Given the description of an element on the screen output the (x, y) to click on. 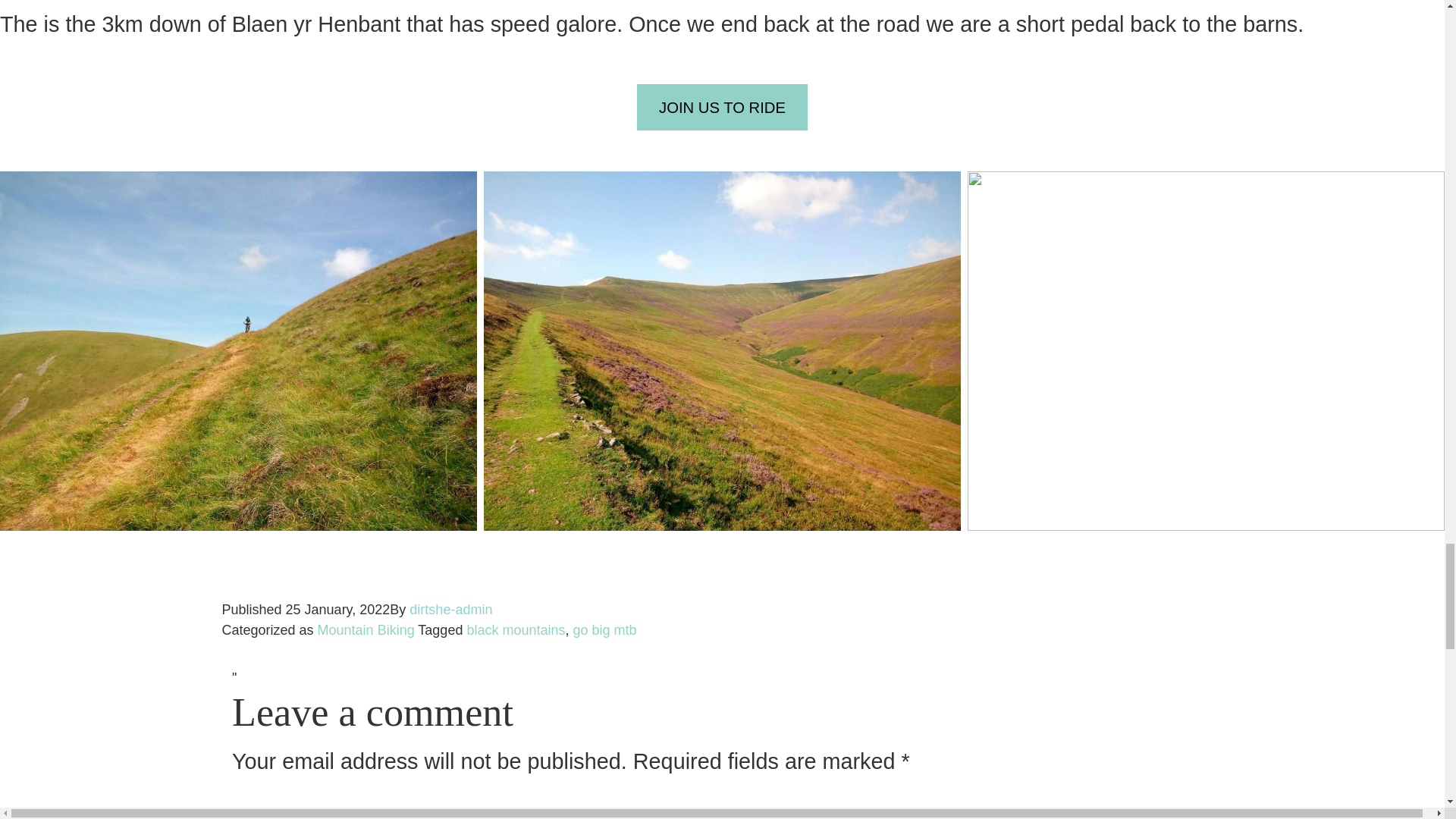
JOIN US TO RIDE (722, 107)
go big mtb (605, 630)
Mountain Biking (365, 630)
dirtshe-admin (450, 609)
black mountains (514, 630)
